Given the description of an element on the screen output the (x, y) to click on. 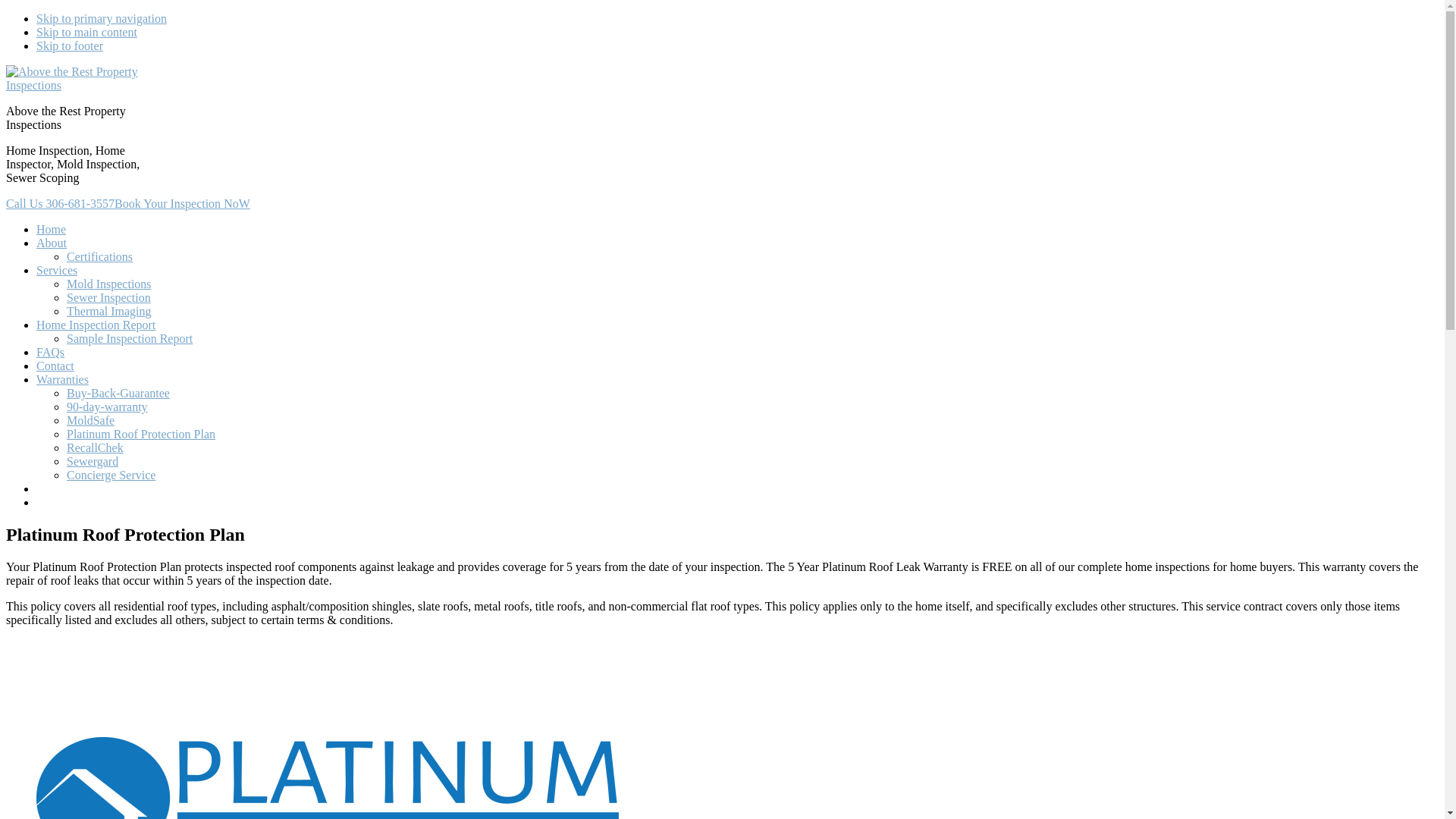
Home Element type: text (50, 228)
RecallChek Element type: text (94, 447)
Sewer Inspection Element type: text (108, 297)
Warranties Element type: text (62, 379)
Book Your Inspection NoW Element type: text (182, 203)
Concierge Service Element type: text (110, 474)
Thermal Imaging Element type: text (108, 310)
Home Inspection Report Element type: text (95, 324)
90-day-warranty Element type: text (106, 406)
FAQs Element type: text (50, 351)
Contact Element type: text (55, 365)
Mold Inspections Element type: text (108, 283)
Services Element type: text (56, 269)
Certifications Element type: text (99, 256)
Buy-Back-Guarantee Element type: text (117, 392)
Skip to main content Element type: text (86, 31)
Sewergard Element type: text (92, 461)
Skip to primary navigation Element type: text (101, 18)
MoldSafe Element type: text (90, 420)
Call Us 306-681-3557 Element type: text (60, 203)
About Element type: text (51, 242)
Sample Inspection Report Element type: text (129, 338)
Skip to footer Element type: text (69, 45)
Platinum Roof Protection Plan Element type: text (140, 433)
